Given the description of an element on the screen output the (x, y) to click on. 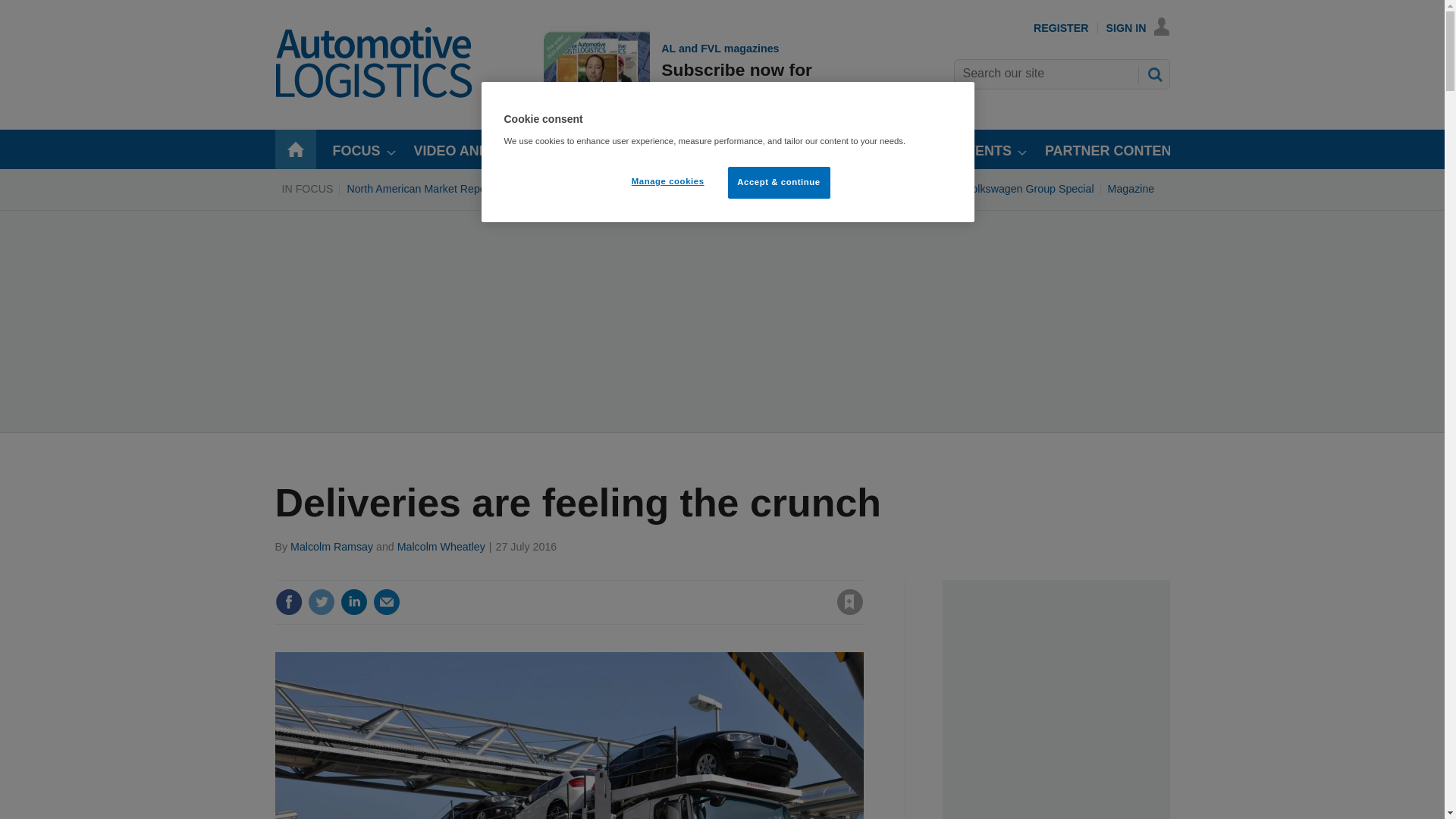
Automotive Logistics (375, 94)
3rd party ad content (1055, 699)
Magazine (1130, 188)
Digital Strategies North America (636, 188)
Share this on Linked in (352, 601)
Share this on Twitter (320, 601)
ALSC Europe 2024 (773, 188)
North American Market Report 2024-2033 (446, 188)
3rd party ad content (679, 70)
